Given the description of an element on the screen output the (x, y) to click on. 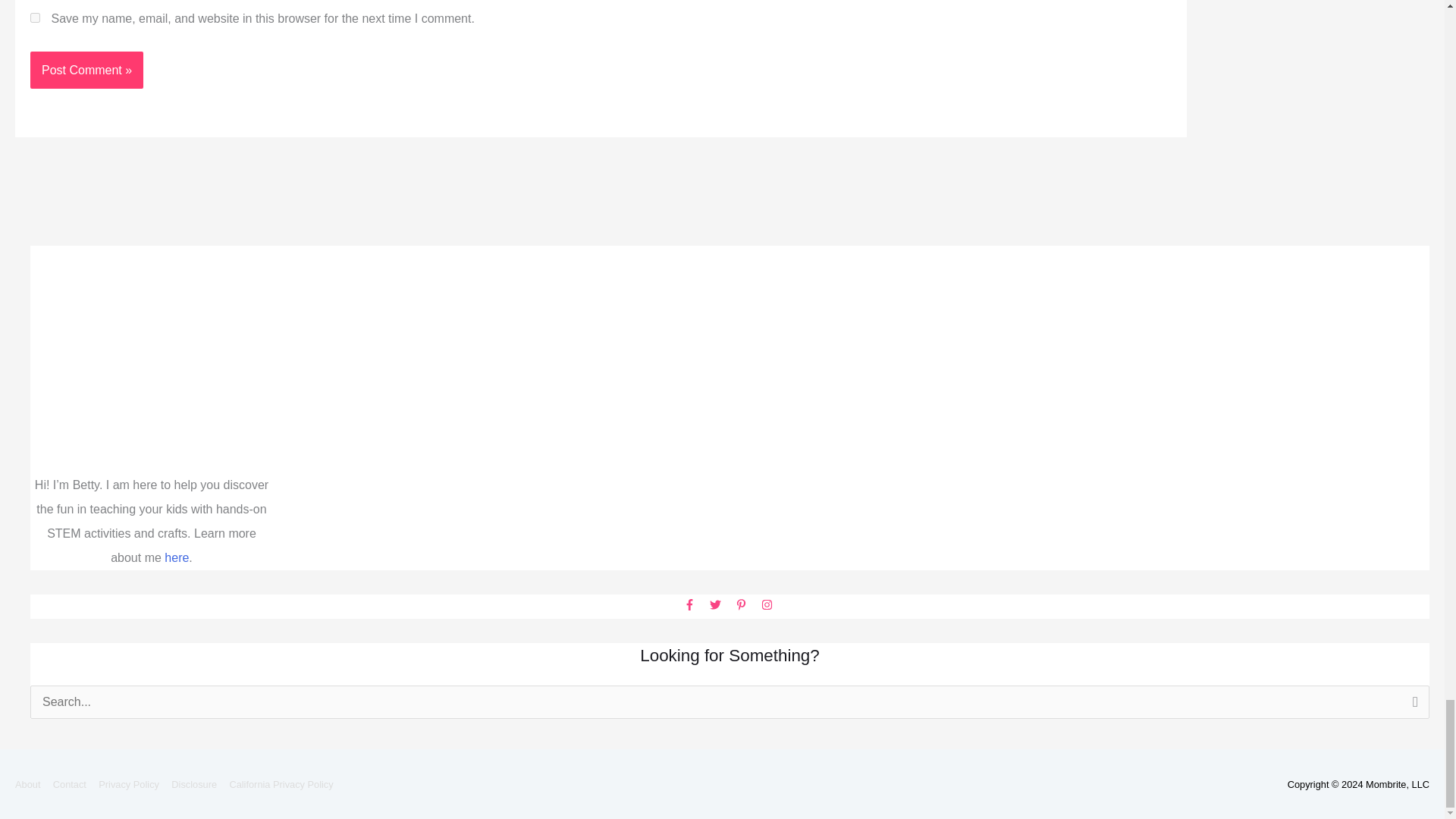
Search (1411, 706)
here (176, 557)
yes (35, 17)
Search (1411, 706)
